Given the description of an element on the screen output the (x, y) to click on. 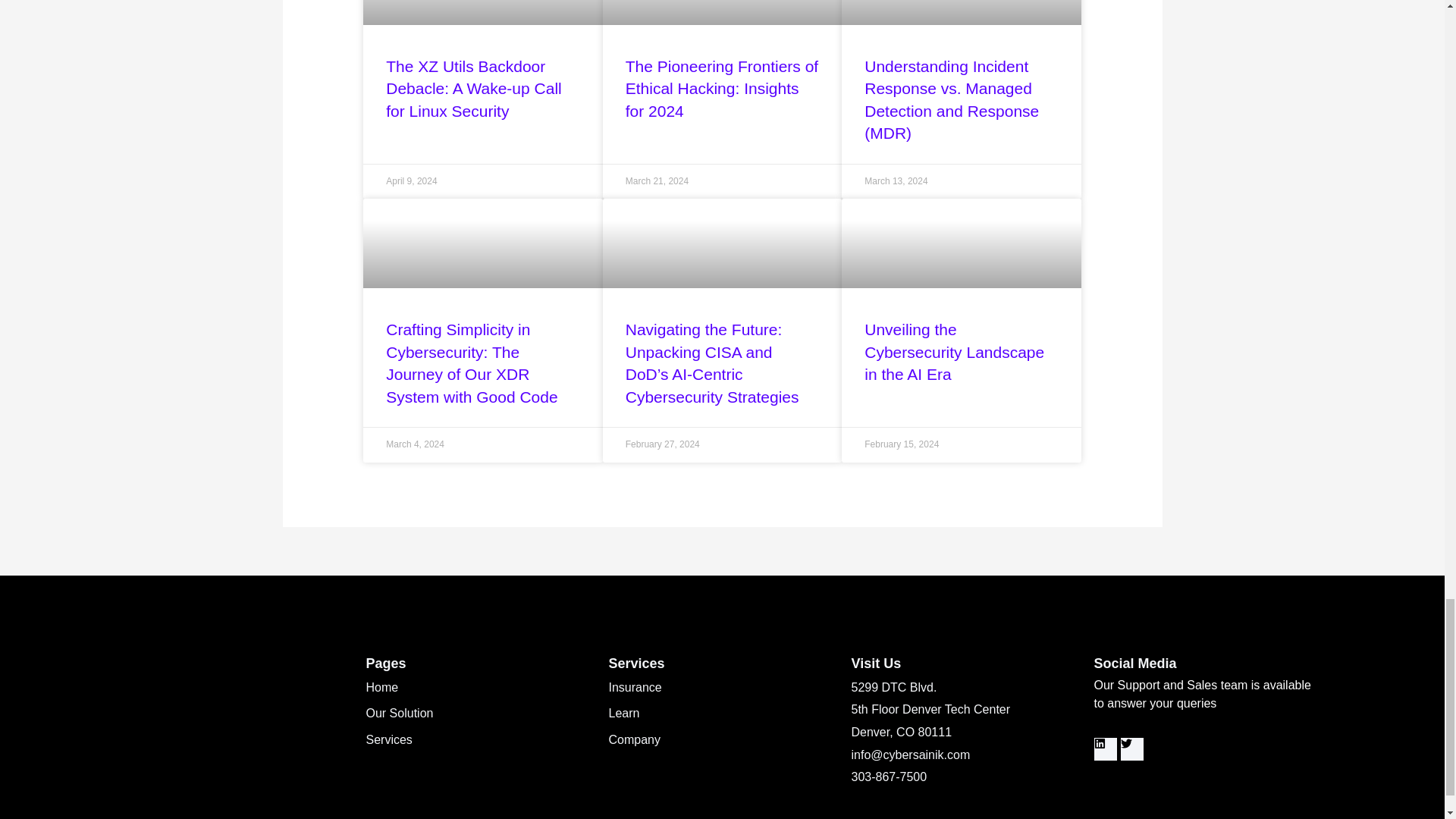
5299 DTC Blvd. (964, 687)
Insurance (721, 687)
Home (478, 687)
Unveiling the Cybersecurity Landscape in the AI Era (953, 352)
Learn (721, 712)
Our Solution (478, 712)
Company (721, 739)
Services (478, 739)
